Given the description of an element on the screen output the (x, y) to click on. 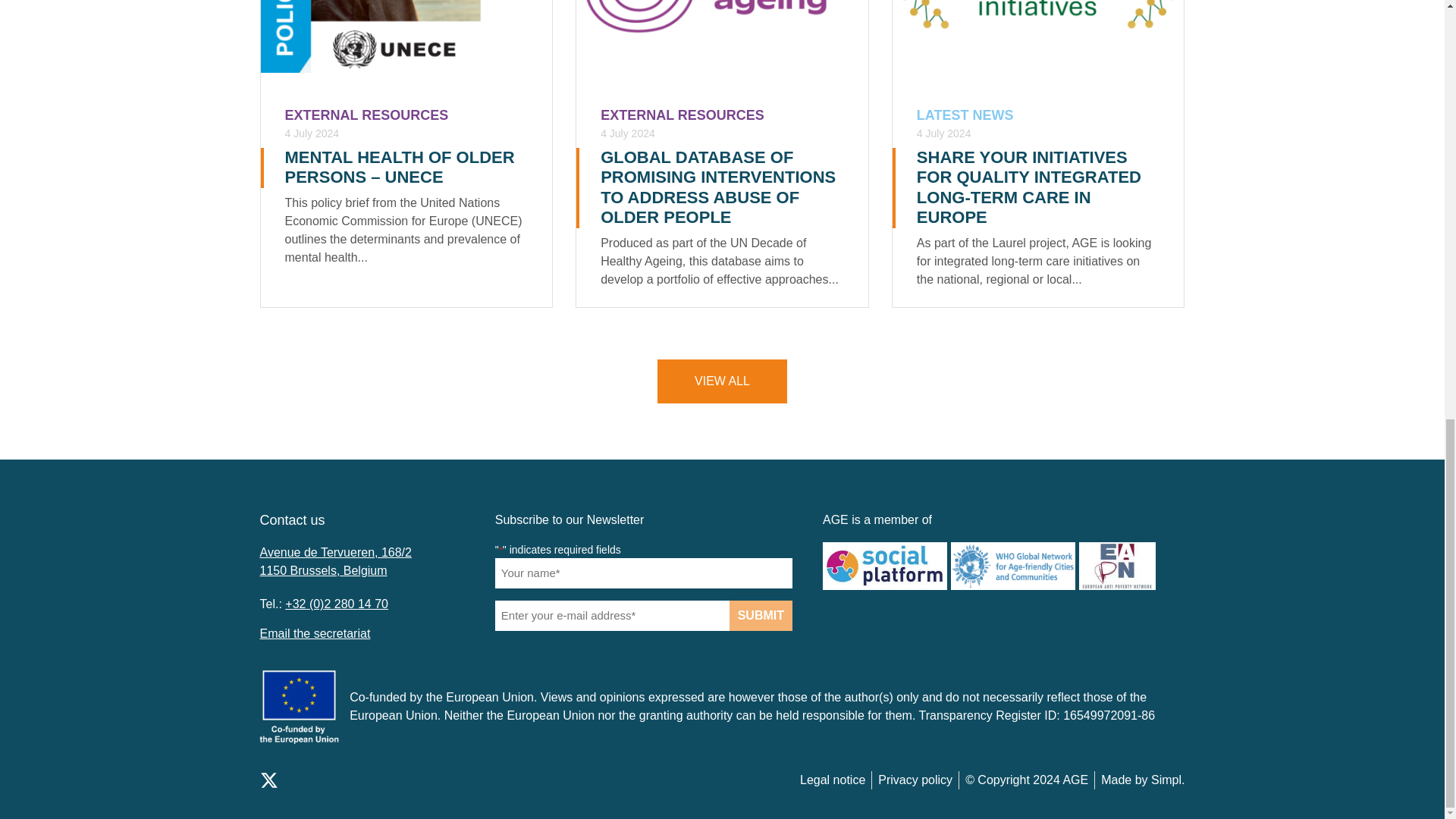
Submit (760, 615)
VIEW ALL (722, 381)
Submit (760, 615)
Email the secretariat (314, 633)
